Given the description of an element on the screen output the (x, y) to click on. 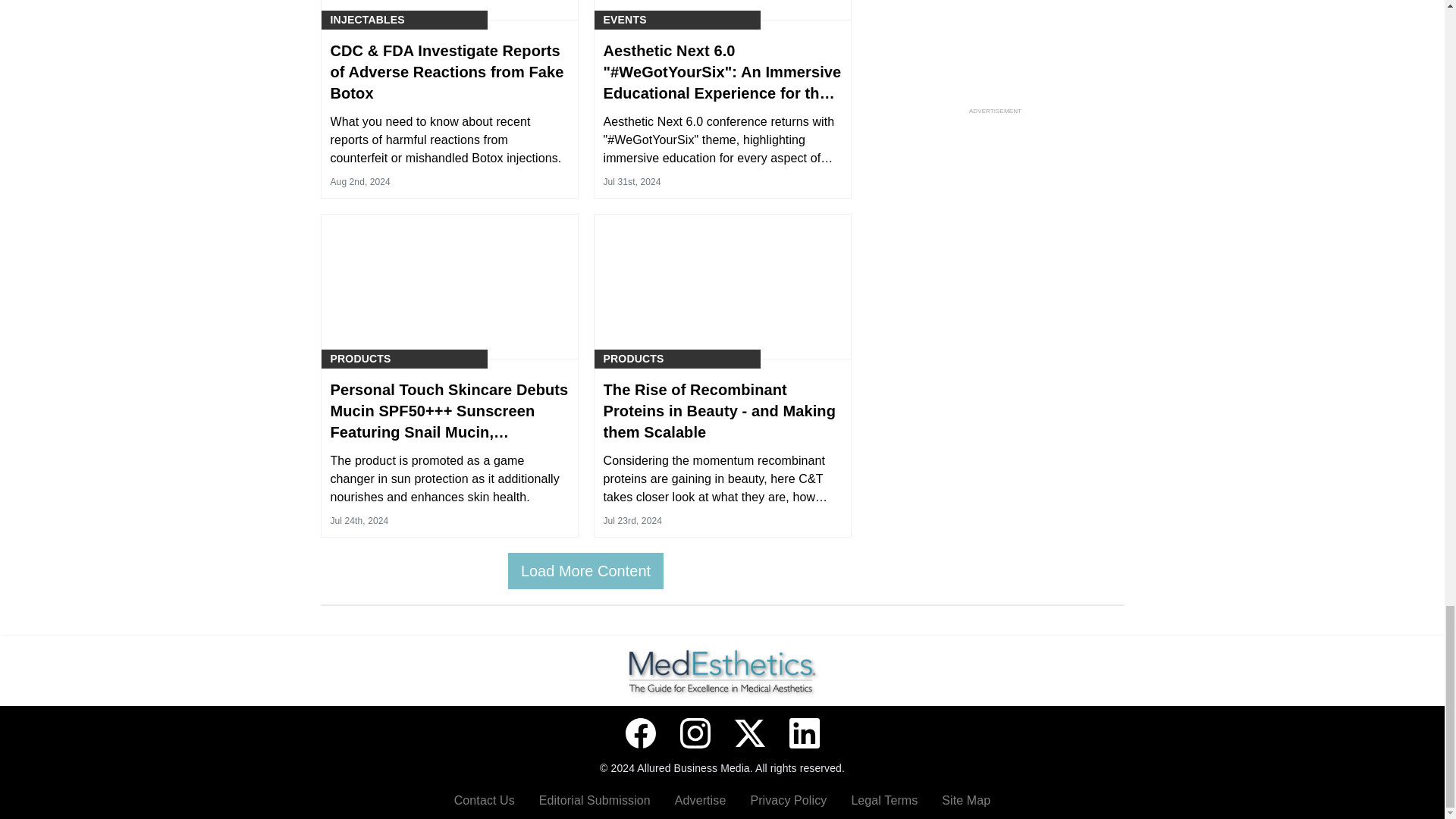
Instagram icon (694, 732)
Twitter X icon (748, 732)
Facebook icon (639, 732)
LinkedIn icon (803, 732)
